Given the description of an element on the screen output the (x, y) to click on. 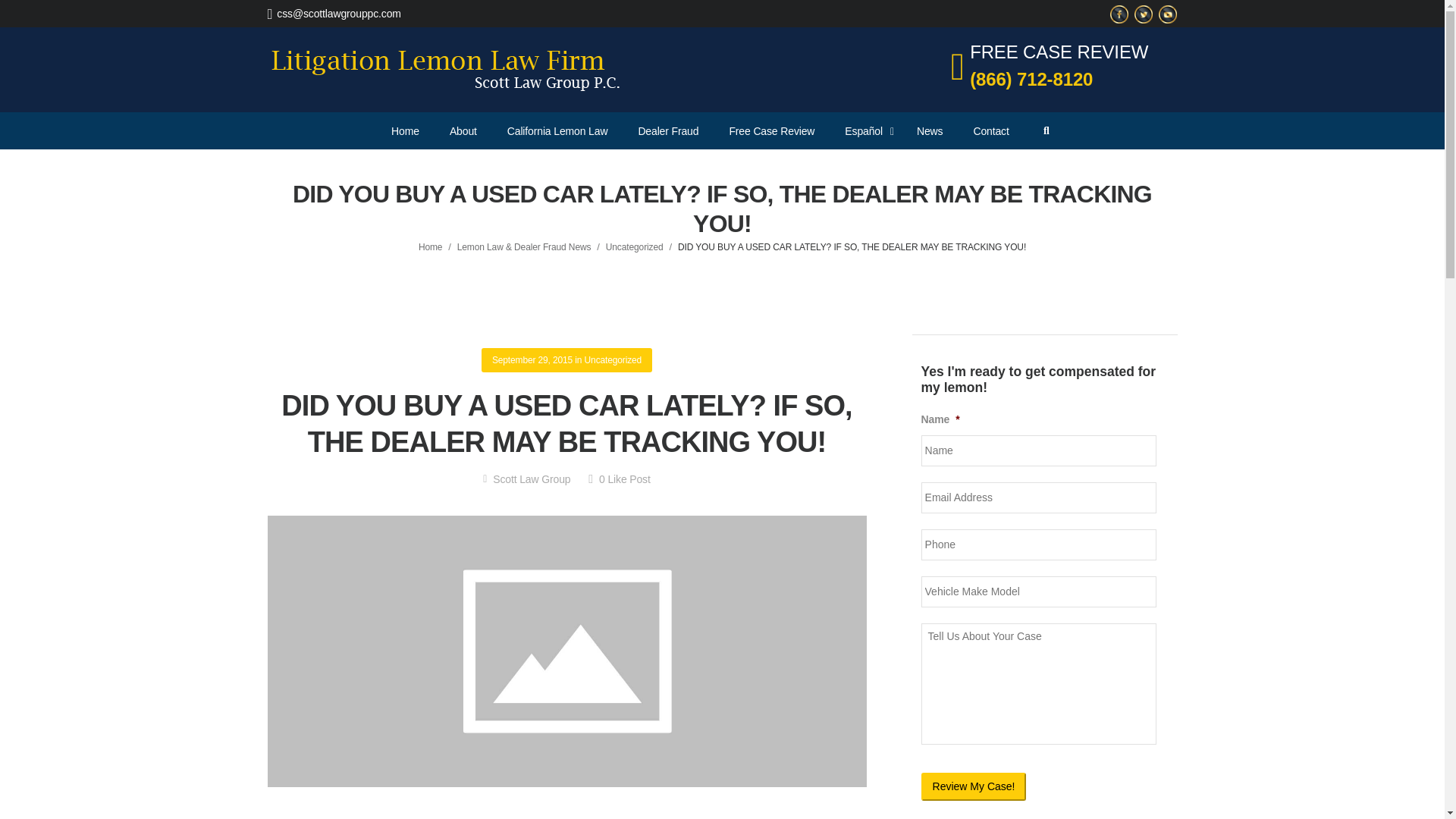
facebook-icon-24 (1118, 13)
September 29, 2015 (532, 359)
0 Like Post (619, 479)
Posts by Scott Law Group (526, 479)
Home (430, 246)
Review My Case! (973, 786)
Review My Case! (973, 786)
Uncategorized (613, 359)
FREE CASE REVIEW (1058, 51)
twitter-icon-24 (1143, 13)
